Given the description of an element on the screen output the (x, y) to click on. 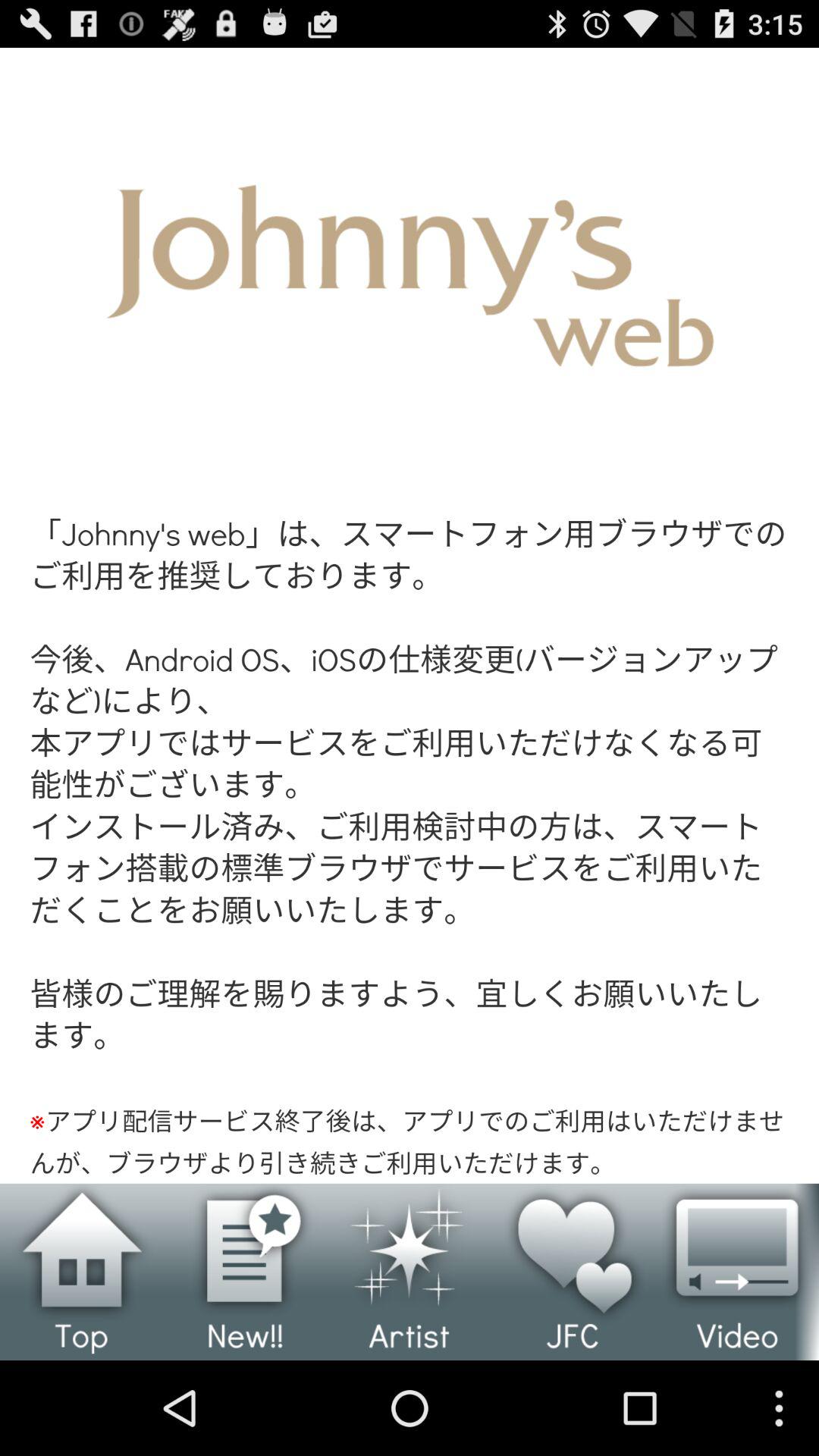
view artist details (409, 1271)
